Given the description of an element on the screen output the (x, y) to click on. 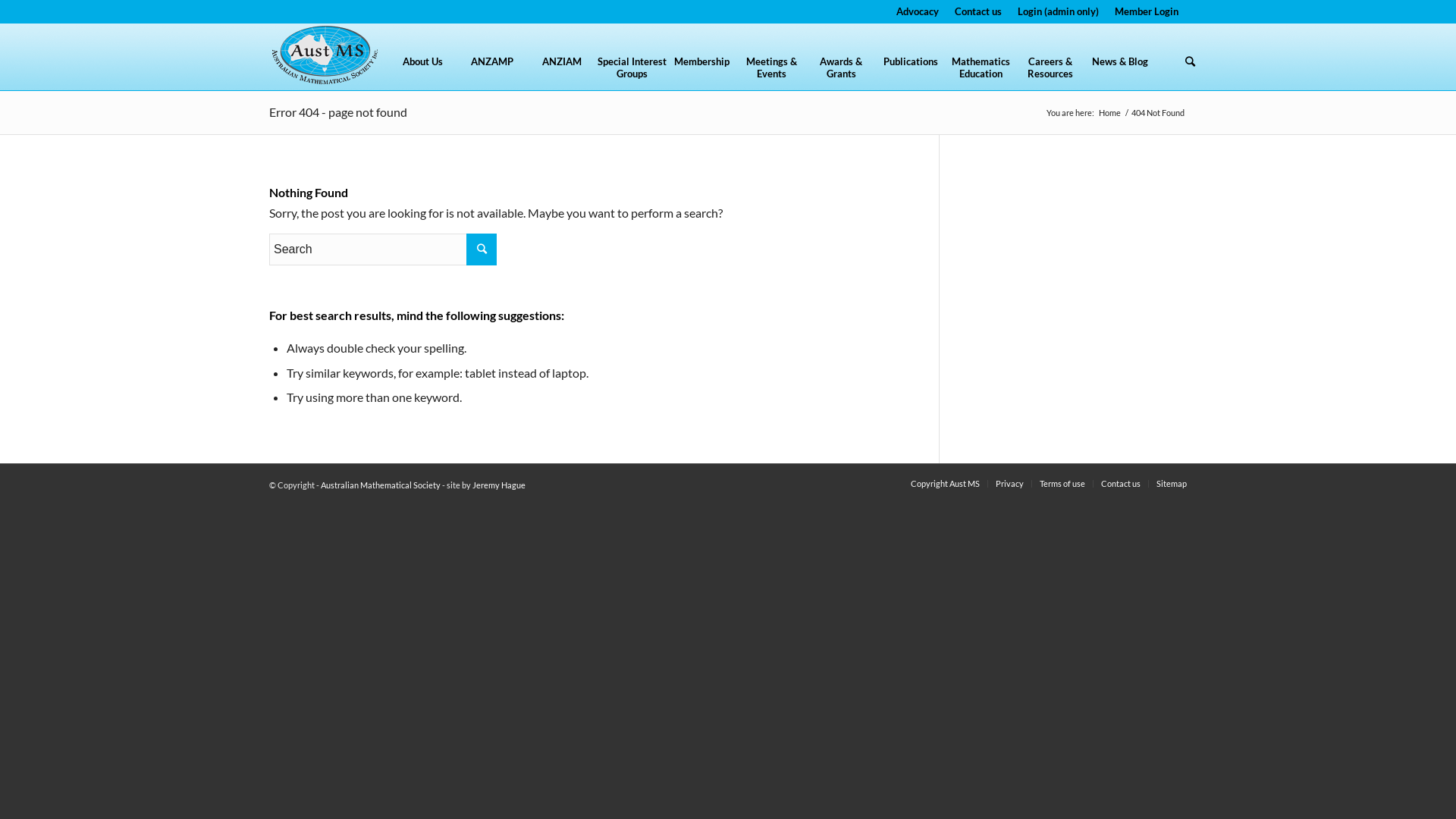
ANZIAM Element type: text (561, 71)
Terms of use Element type: text (1062, 483)
ANZAMP Element type: text (492, 71)
Advocacy Element type: text (917, 11)
Sitemap Element type: text (1171, 483)
Meetings & Events Element type: text (771, 71)
Mathematics Education Element type: text (980, 71)
Home Element type: text (1109, 112)
Jeremy Hague Element type: text (498, 484)
Contact us Element type: text (977, 11)
Australian Mathematical Society Element type: text (380, 484)
Awards & Grants Element type: text (840, 71)
Careers & Resources Element type: text (1050, 71)
Privacy Element type: text (1009, 483)
News & Blog Element type: text (1119, 71)
Publications Element type: text (910, 71)
Member Login Element type: text (1146, 11)
Special Interest Groups Element type: text (631, 71)
Contact us Element type: text (1120, 483)
Copyright Aust MS Element type: text (944, 483)
Login (admin only) Element type: text (1057, 11)
Membership Element type: text (701, 71)
About Us Element type: text (422, 71)
